Given the description of an element on the screen output the (x, y) to click on. 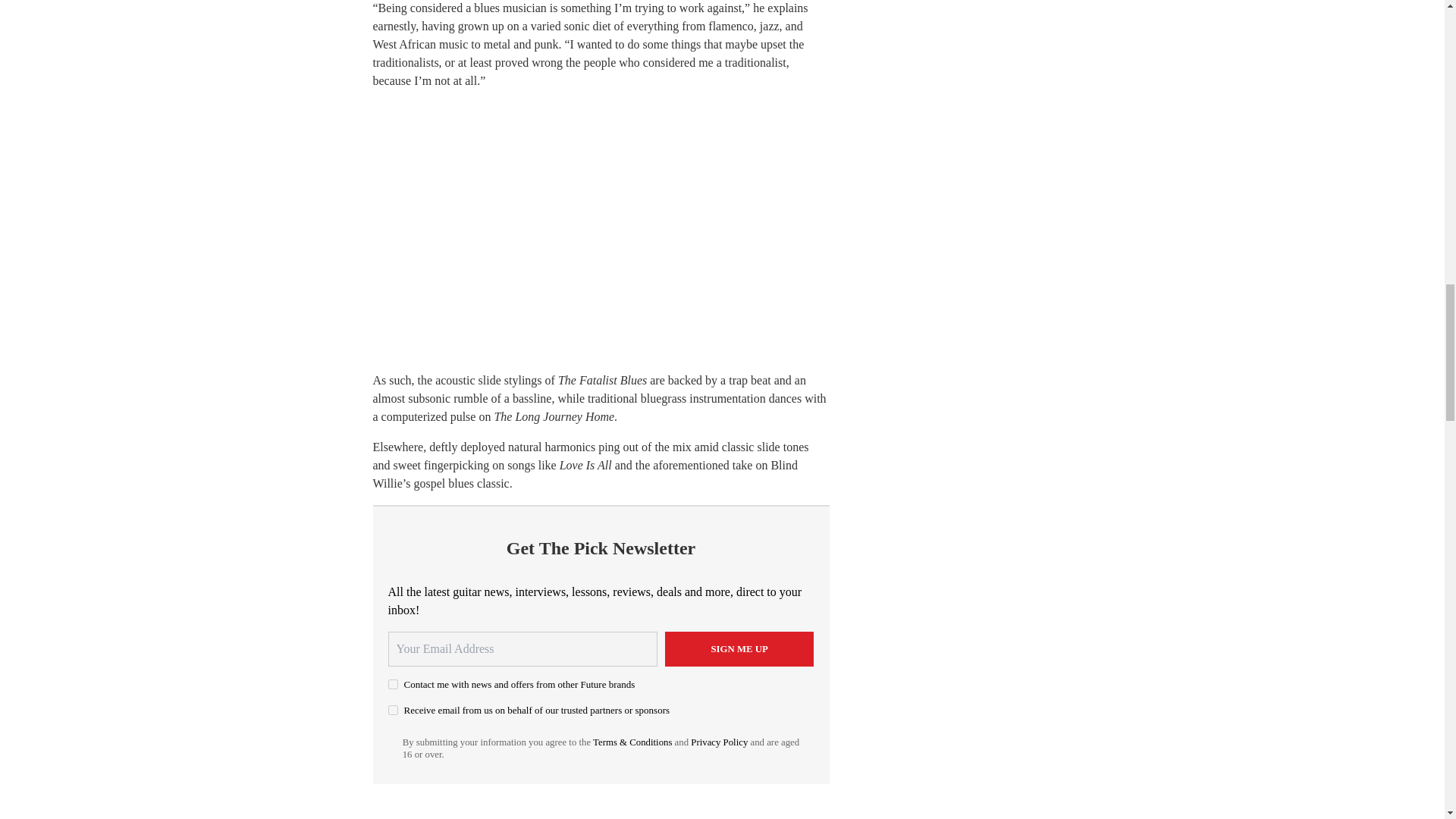
on (392, 709)
Sign me up (739, 648)
Sign me up (739, 648)
on (392, 684)
